Given the description of an element on the screen output the (x, y) to click on. 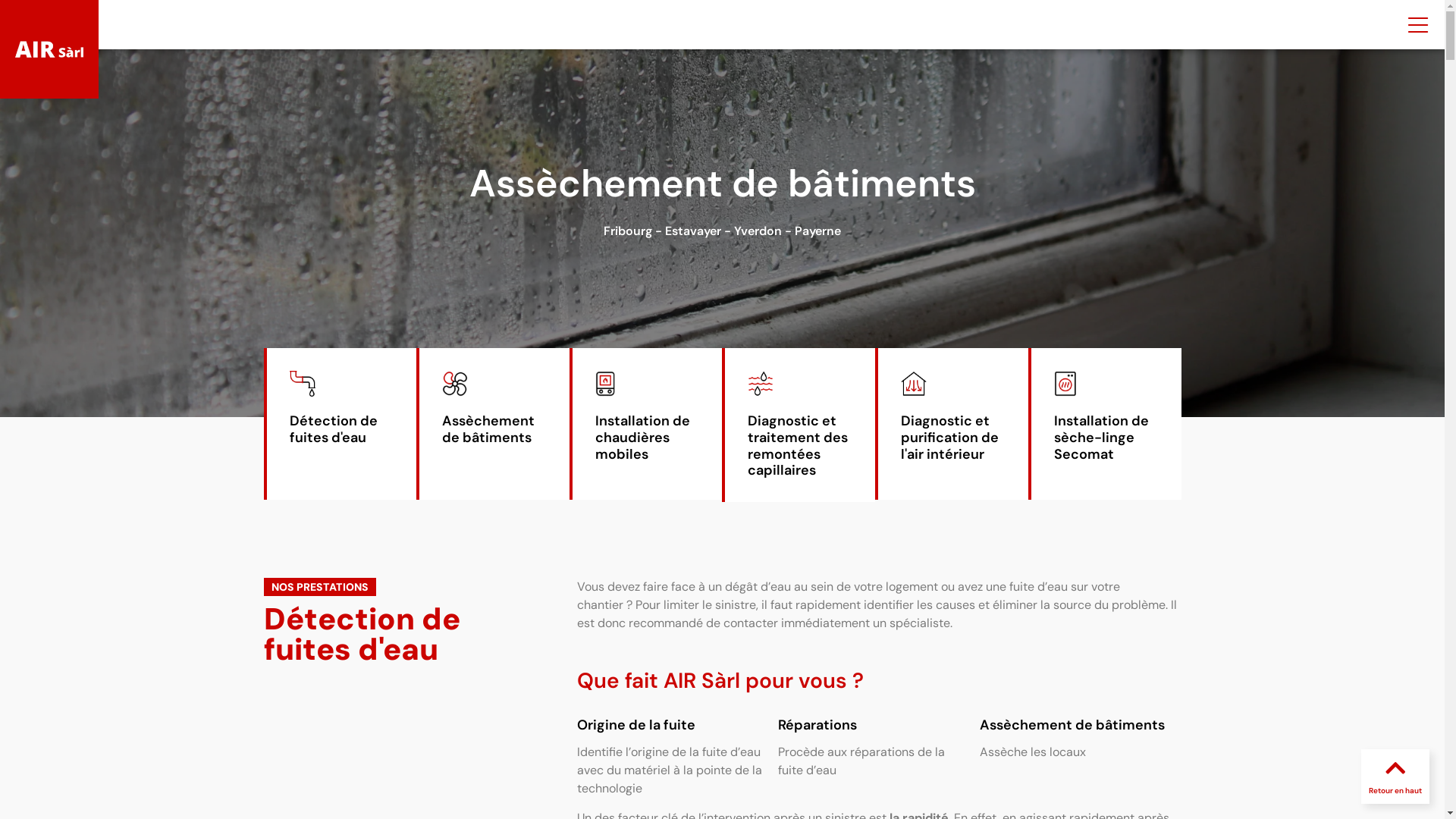
Retour en haut Element type: text (1394, 790)
